Given the description of an element on the screen output the (x, y) to click on. 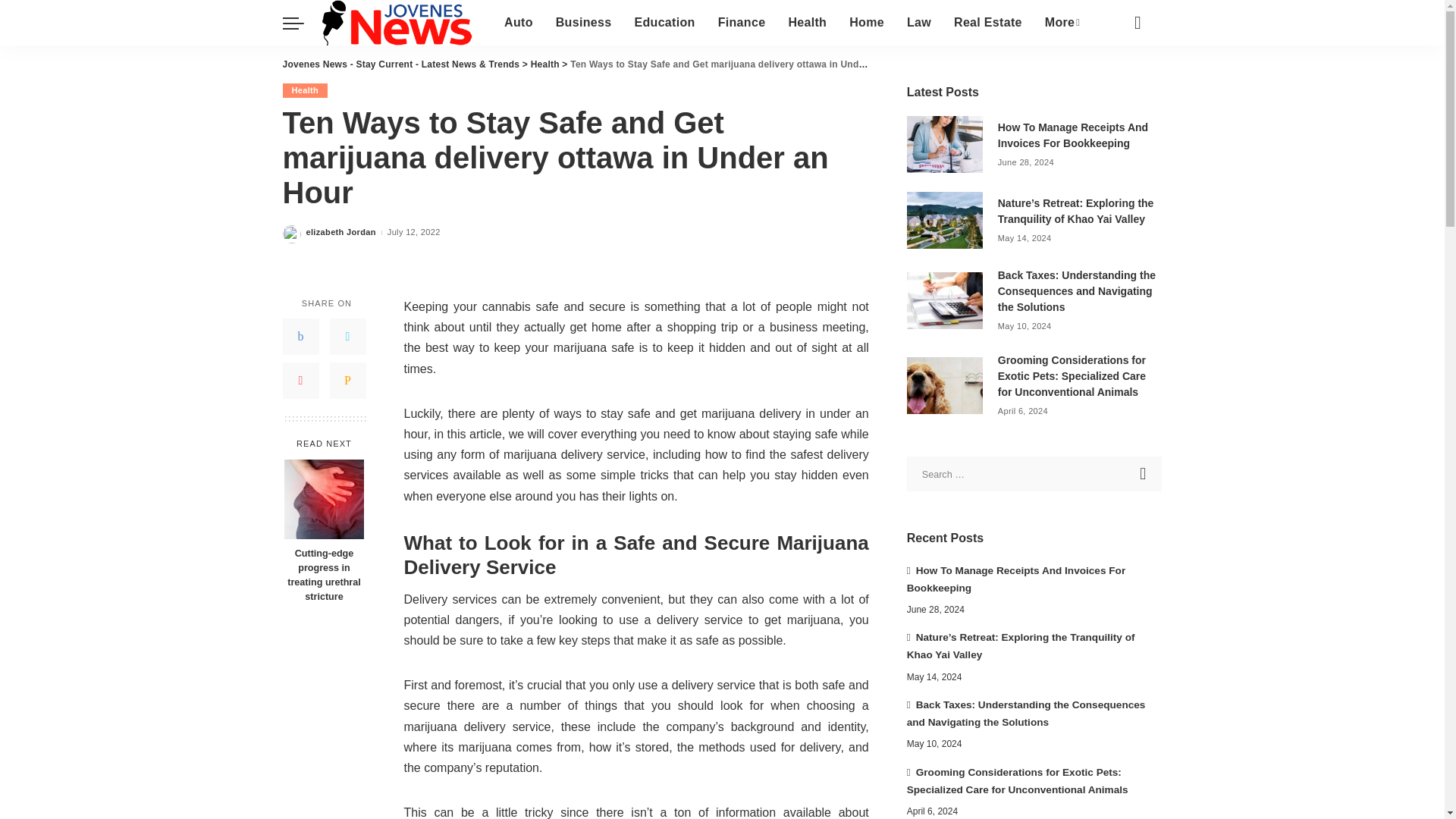
elizabeth Jordan (340, 232)
Home (866, 22)
Go to the Health Category archives. (545, 63)
Facebook (300, 336)
Health (807, 22)
Health (304, 90)
More (1062, 22)
Search (1143, 473)
Finance (741, 22)
Health (545, 63)
